Given the description of an element on the screen output the (x, y) to click on. 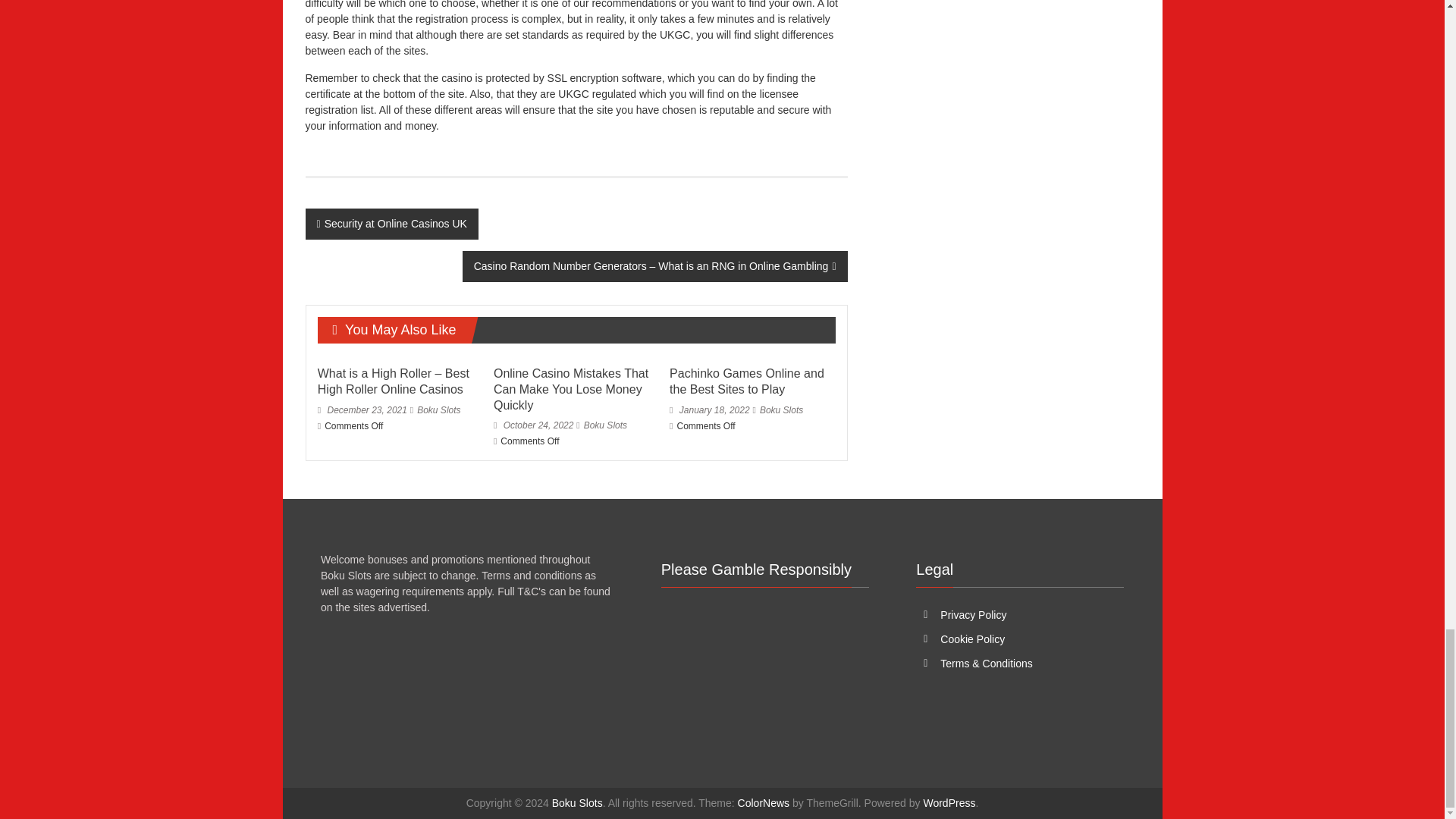
10:56 am (533, 425)
Boku Slots (605, 425)
10:19 am (709, 409)
Online Casino Mistakes That Can Make You Lose Money Quickly (570, 388)
Pachinko Games Online and the Best Sites to Play (746, 380)
6:29 pm (362, 409)
Boku Slots (438, 409)
